Given the description of an element on the screen output the (x, y) to click on. 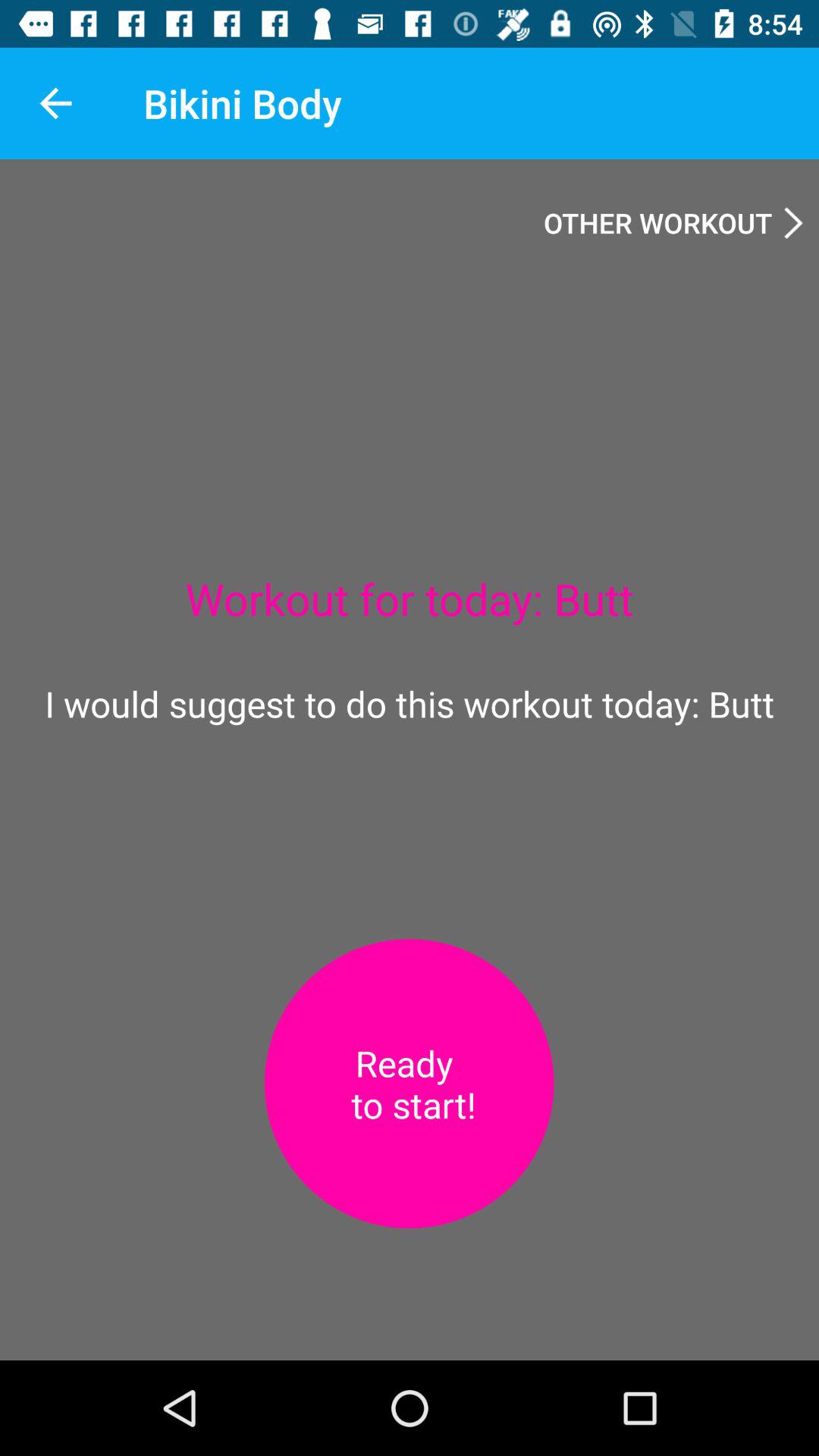
press item above the i would suggest icon (55, 103)
